Given the description of an element on the screen output the (x, y) to click on. 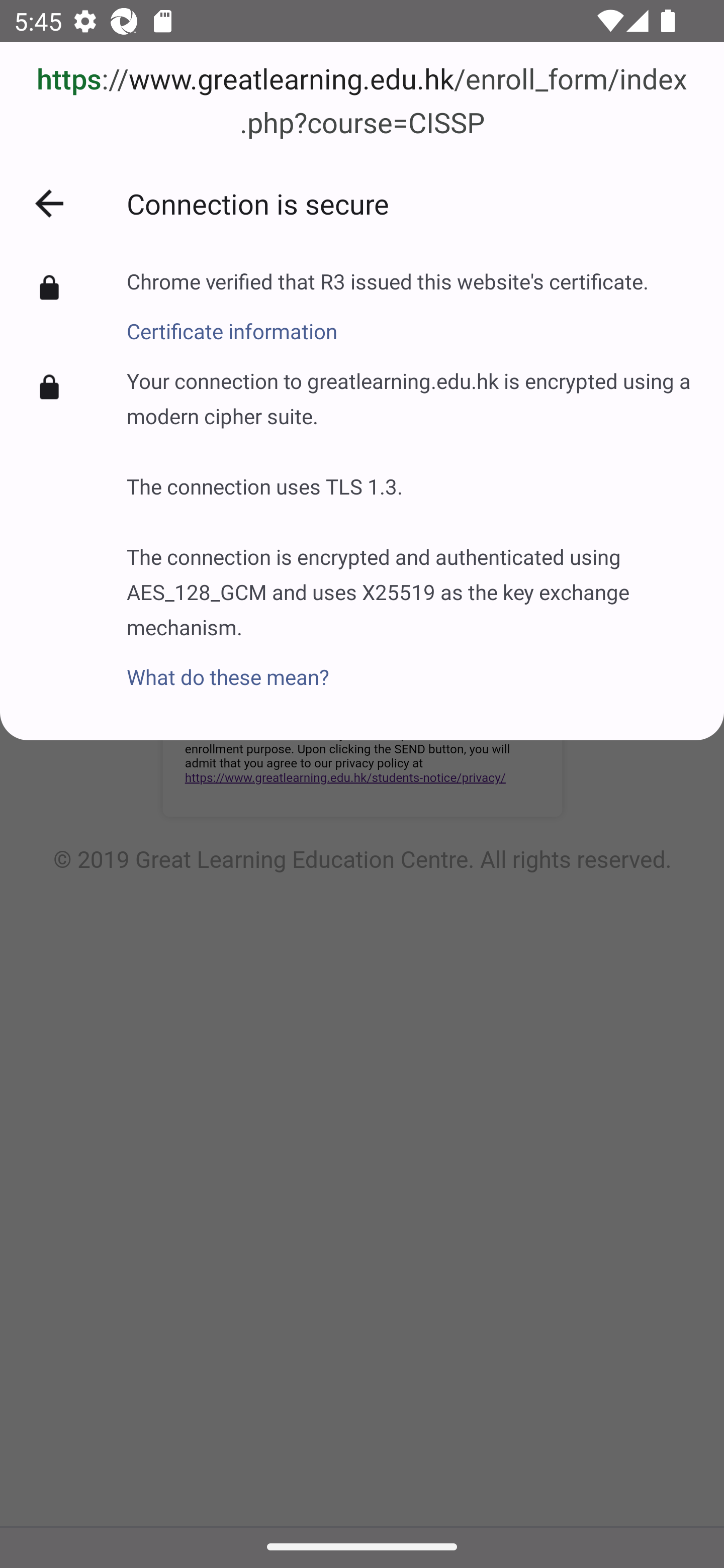
Back (49, 203)
Certificate information (387, 319)
What do these mean? (410, 666)
